Given the description of an element on the screen output the (x, y) to click on. 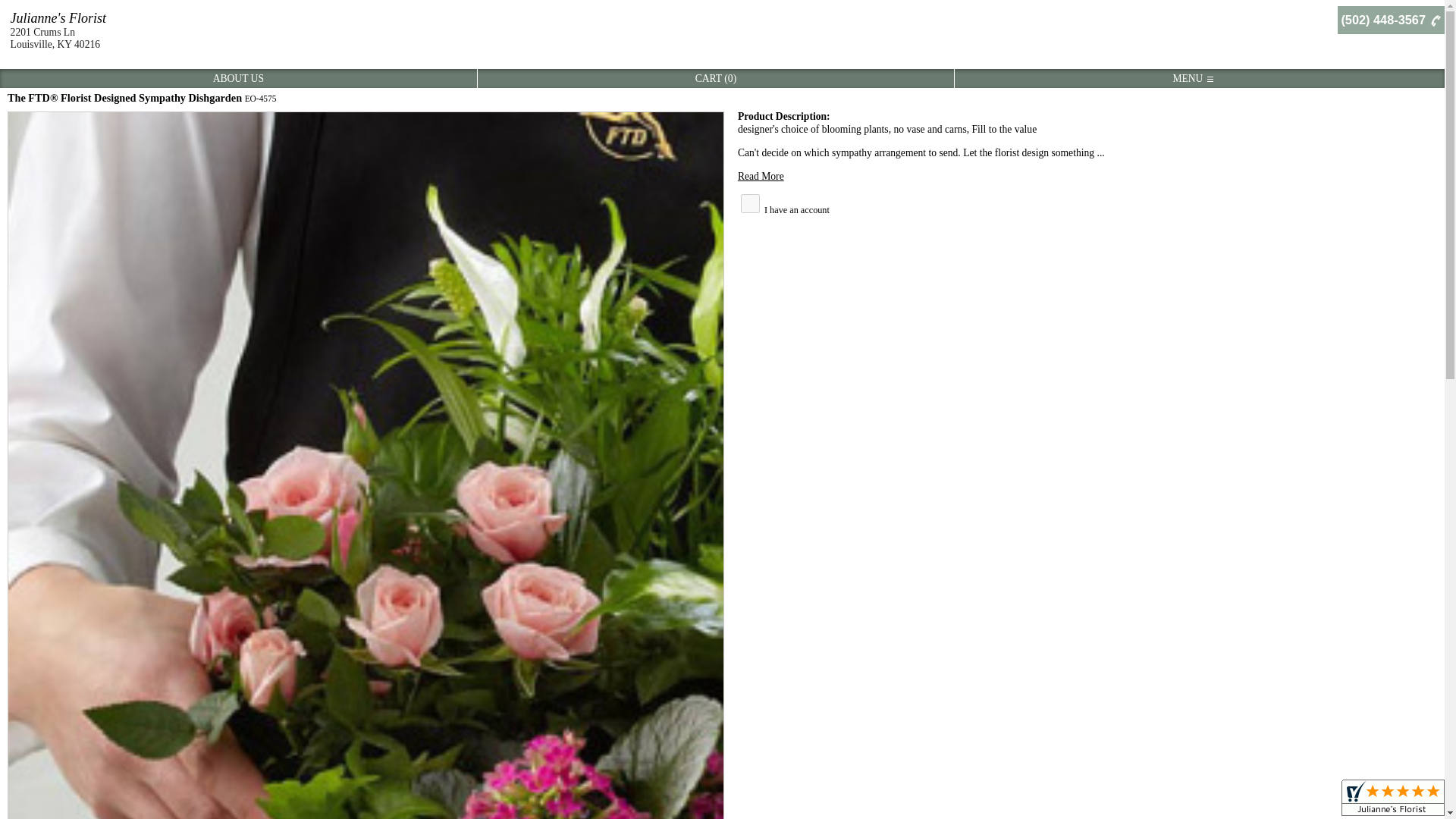
MENU (1192, 78)
Julianne's Florist (58, 18)
Read More (761, 174)
ABOUT US (237, 78)
Y (750, 203)
